Given the description of an element on the screen output the (x, y) to click on. 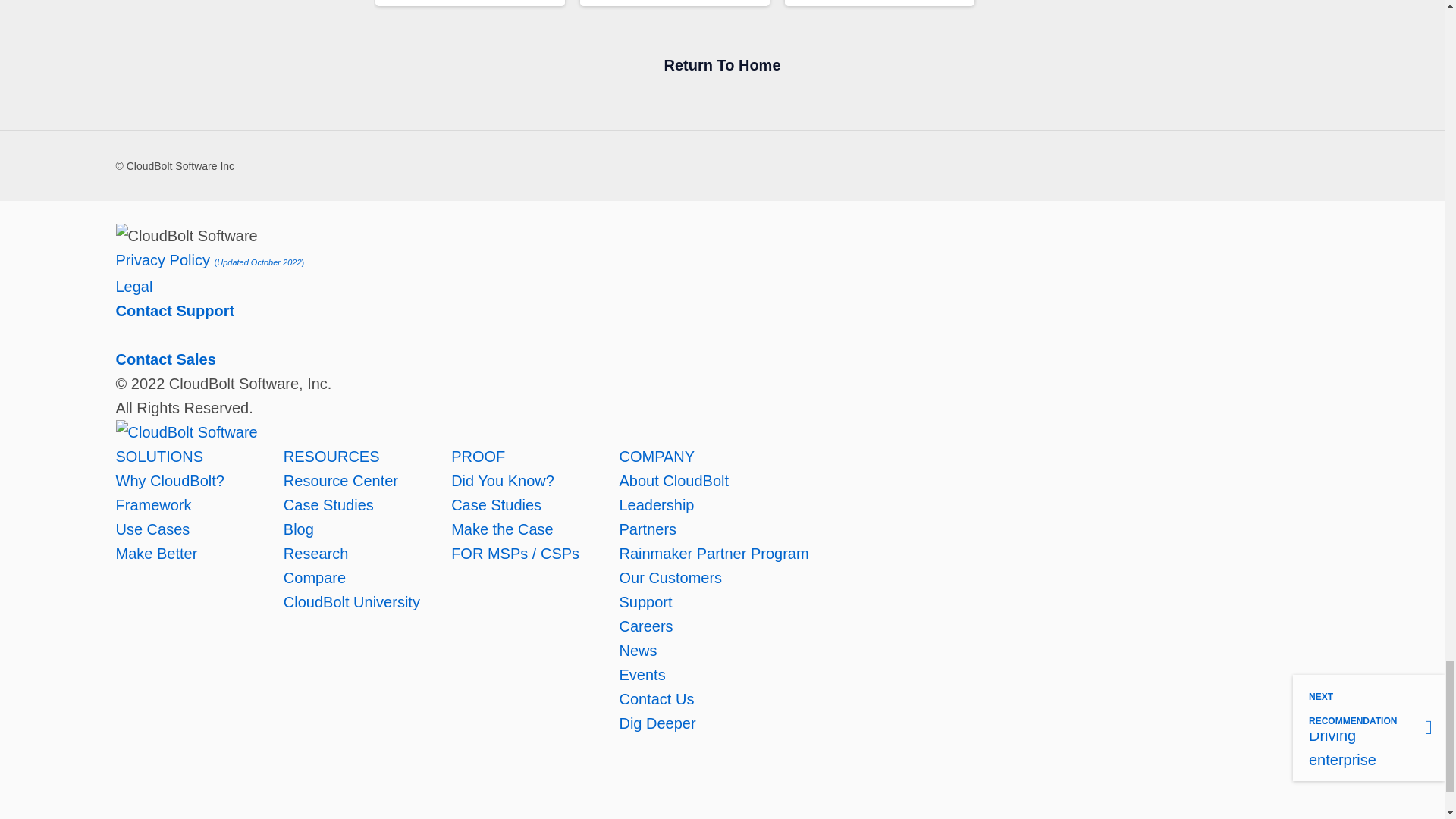
Did You Know? (502, 480)
Case Studies (328, 504)
Rainmaker Partner Program (713, 553)
Events (641, 674)
Research (316, 553)
Support (644, 601)
Legal (133, 286)
Partners (647, 528)
Leadership (656, 504)
Framework (152, 504)
